Given the description of an element on the screen output the (x, y) to click on. 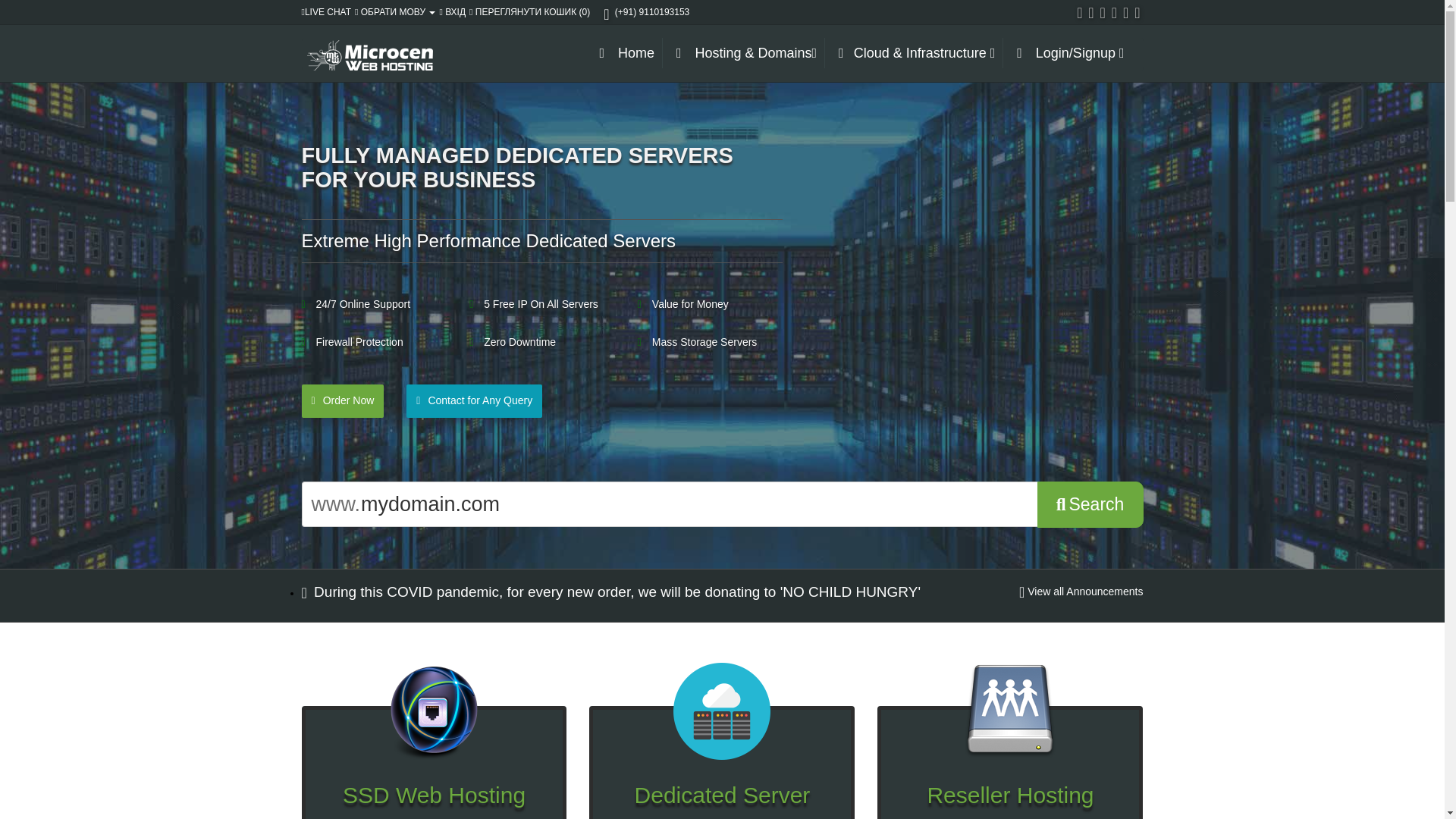
LIVE CHAT (326, 11)
mydomain.com (697, 504)
mydomain.com (697, 504)
